Given the description of an element on the screen output the (x, y) to click on. 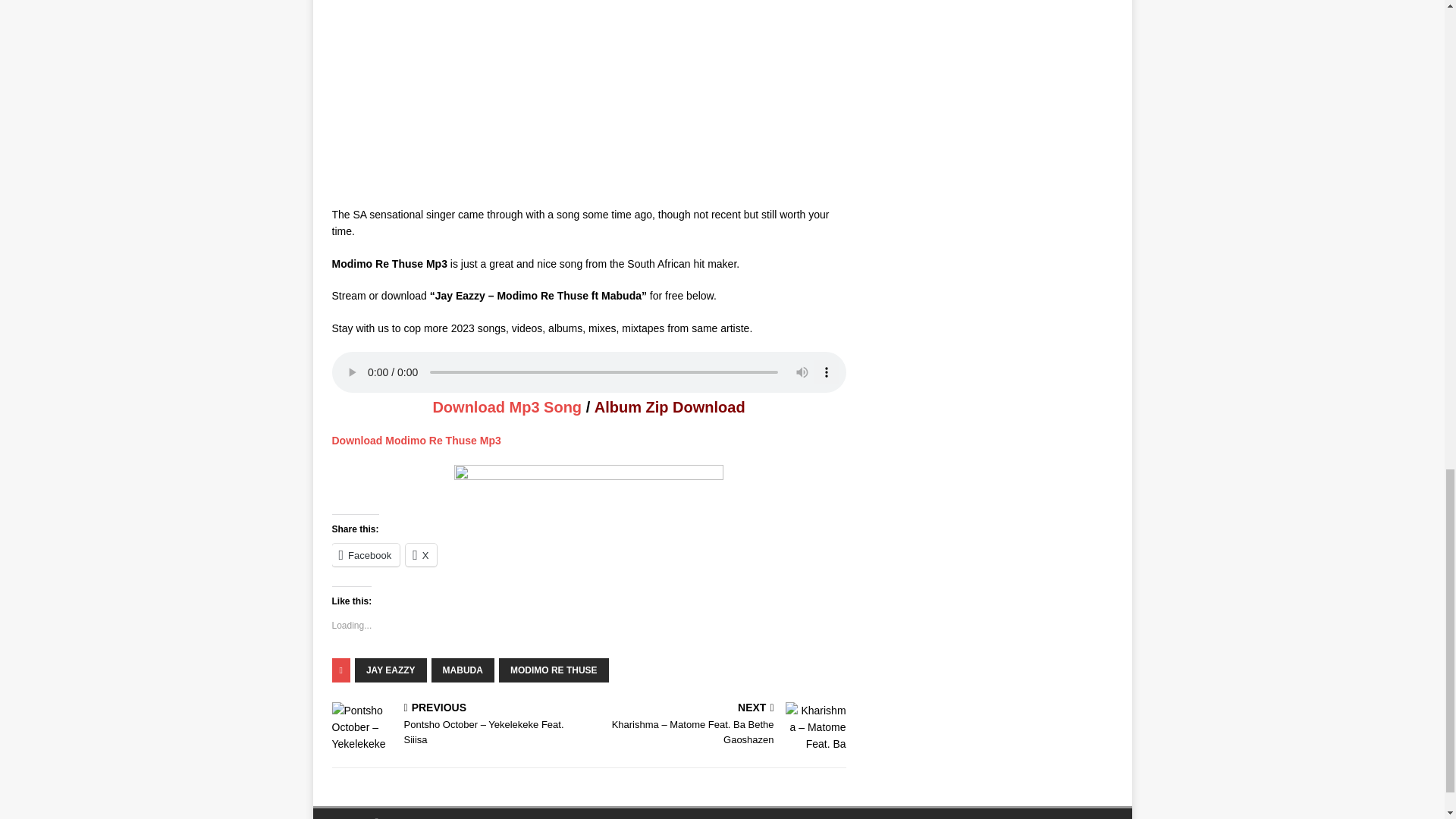
X (421, 554)
Download Mp3 Song (506, 406)
Click to share on Facebook (365, 554)
Album Zip Download (669, 406)
MODIMO RE THUSE (553, 670)
MABUDA (462, 670)
JAY EAZZY (390, 670)
Download Modimo Re Thuse Mp3 (415, 440)
Facebook (365, 554)
Click to share on X (421, 554)
